Given the description of an element on the screen output the (x, y) to click on. 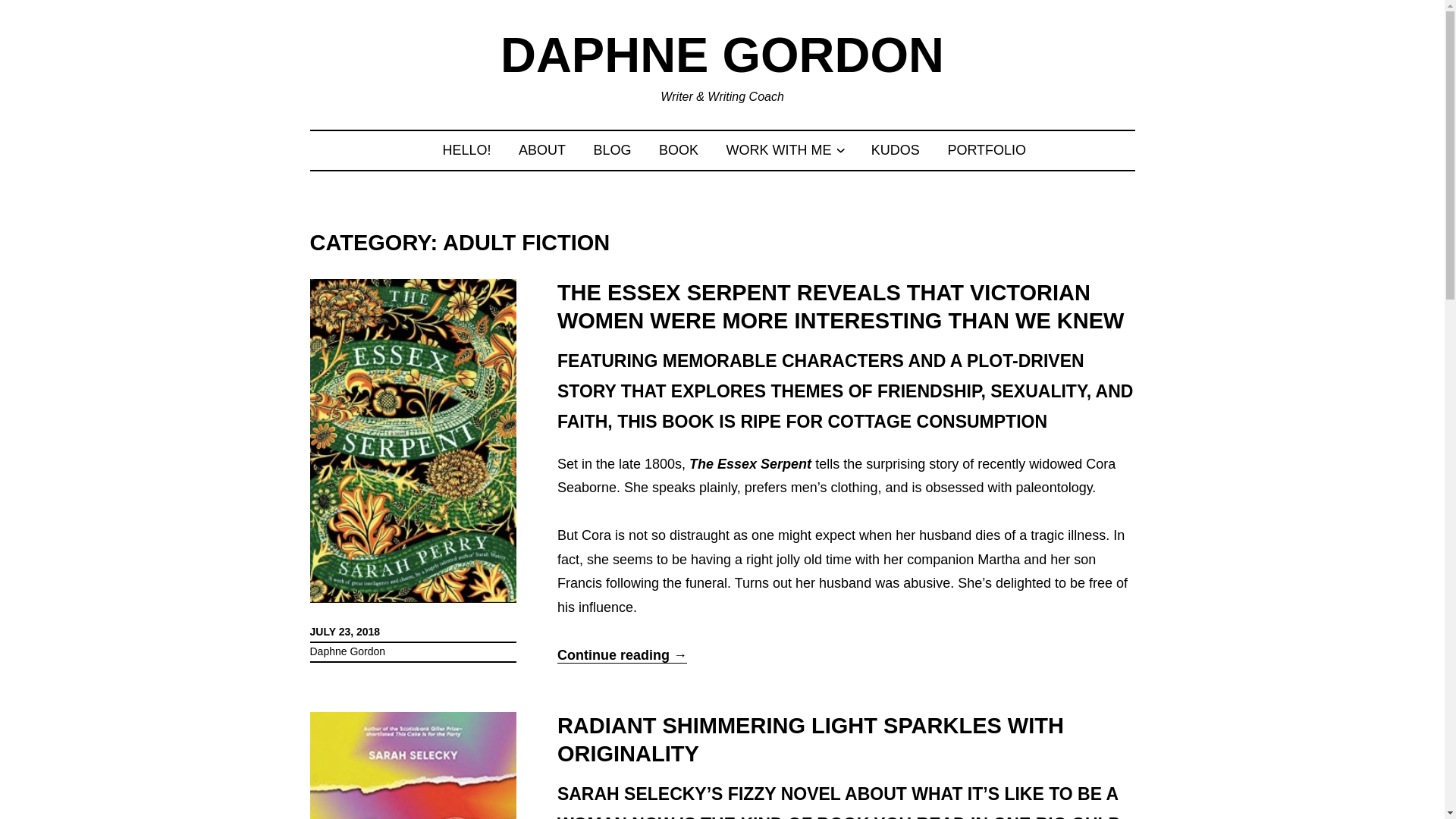
DAPHNE GORDON (721, 54)
HELLO! (466, 150)
BOOK (678, 150)
ABOUT (542, 150)
BLOG (612, 150)
KUDOS (895, 150)
The Essex Serpent (749, 463)
RADIANT SHIMMERING LIGHT SPARKLES WITH ORIGINALITY (810, 739)
Daphne Gordon (346, 651)
PORTFOLIO (986, 150)
WORK WITH ME (778, 150)
JULY 23, 2018 (344, 631)
